Given the description of an element on the screen output the (x, y) to click on. 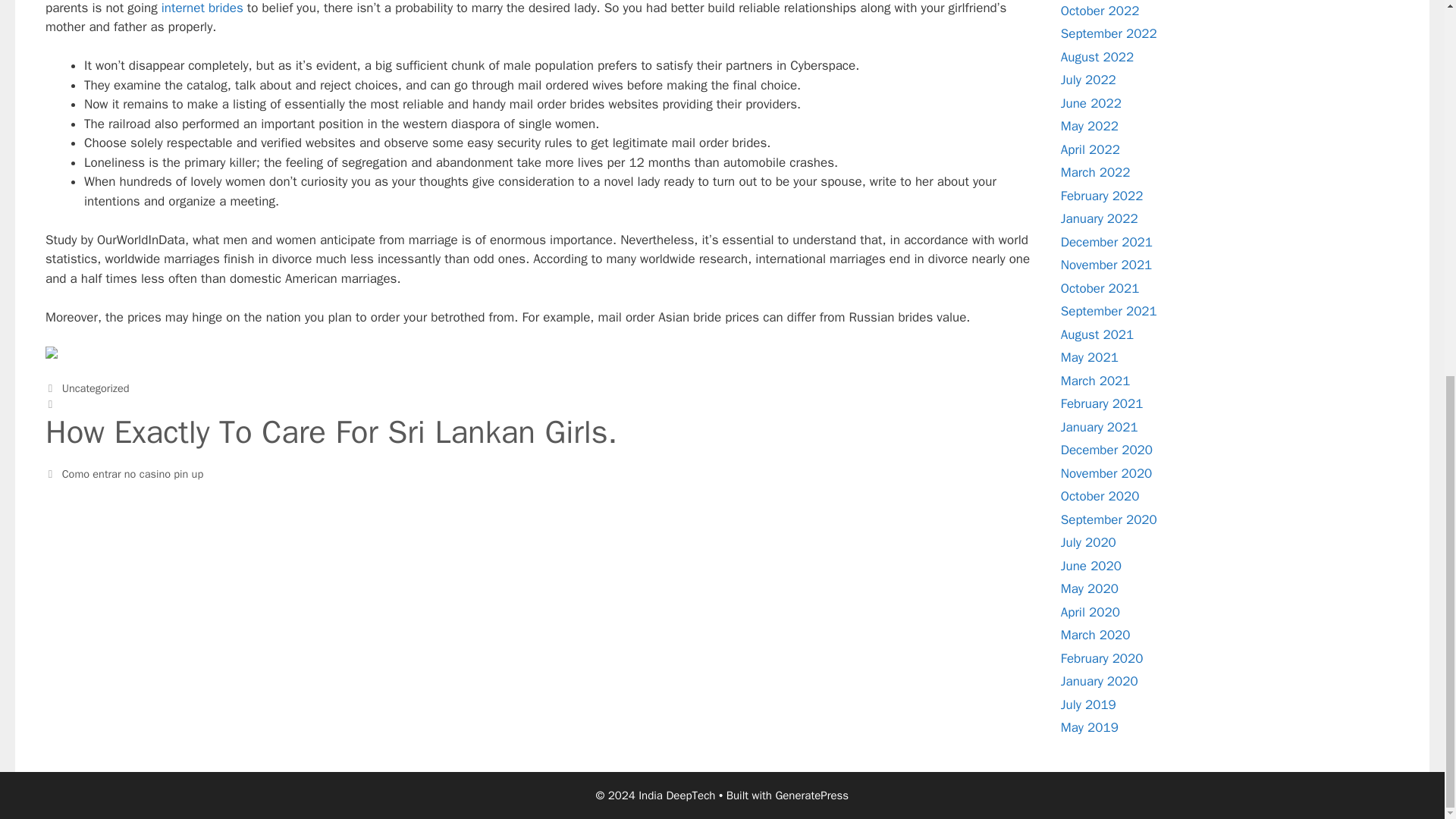
Como entrar no casino pin up (132, 473)
Previous (537, 424)
Uncategorized (95, 387)
internet brides (202, 7)
Next (124, 473)
October 2022 (1100, 10)
August 2022 (1097, 57)
September 2022 (1109, 33)
How Exactly To Care For Sri Lankan Girls. (537, 439)
